Given the description of an element on the screen output the (x, y) to click on. 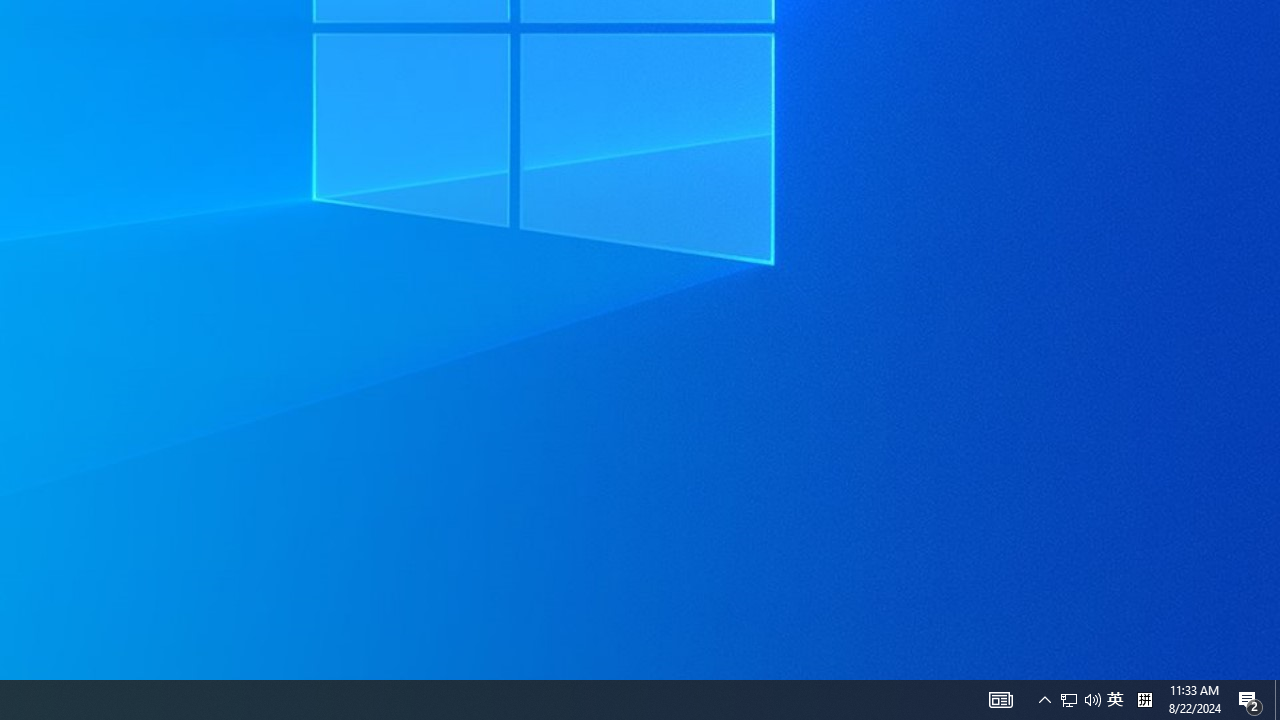
Notification Chevron (1044, 699)
Show desktop (1277, 699)
AutomationID: 4105 (1000, 699)
Action Center, 2 new notifications (1250, 699)
Q2790: 100% (1115, 699)
User Promoted Notification Area (1092, 699)
Tray Input Indicator - Chinese (Simplified, China) (1069, 699)
